Given the description of an element on the screen output the (x, y) to click on. 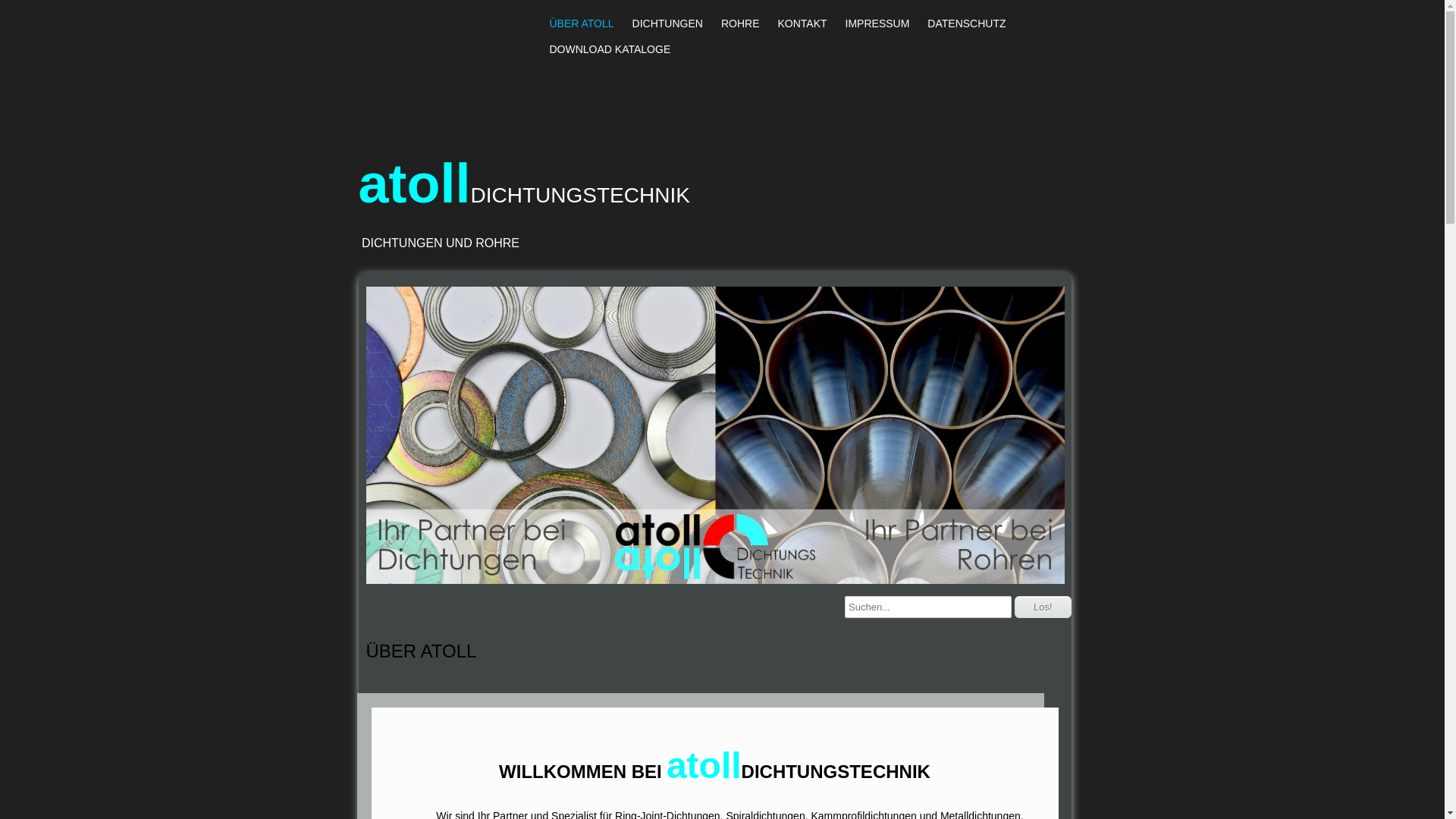
KONTAKT Element type: text (801, 23)
IMPRESSUM Element type: text (877, 23)
DATENSCHUTZ Element type: text (966, 23)
DOWNLOAD KATALOGE Element type: text (609, 48)
Los! Element type: text (1042, 607)
ROHRE Element type: text (740, 23)
DICHTUNGEN Element type: text (667, 23)
